Given the description of an element on the screen output the (x, y) to click on. 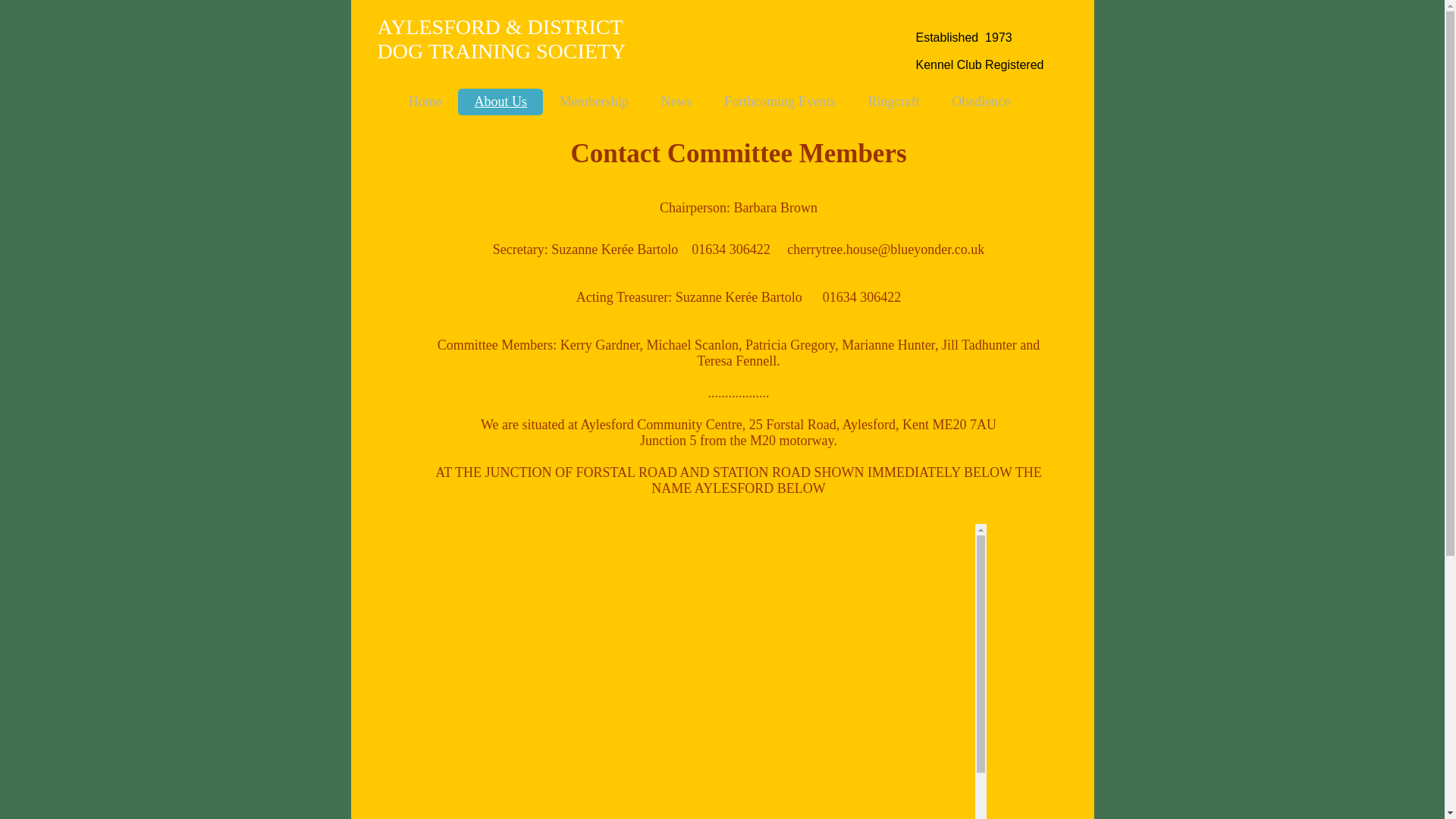
Obedience (981, 101)
Forthcoming Events (779, 101)
News (676, 101)
Membership (594, 101)
About Us (500, 101)
Ringcraft (893, 101)
Home (425, 101)
